Given the description of an element on the screen output the (x, y) to click on. 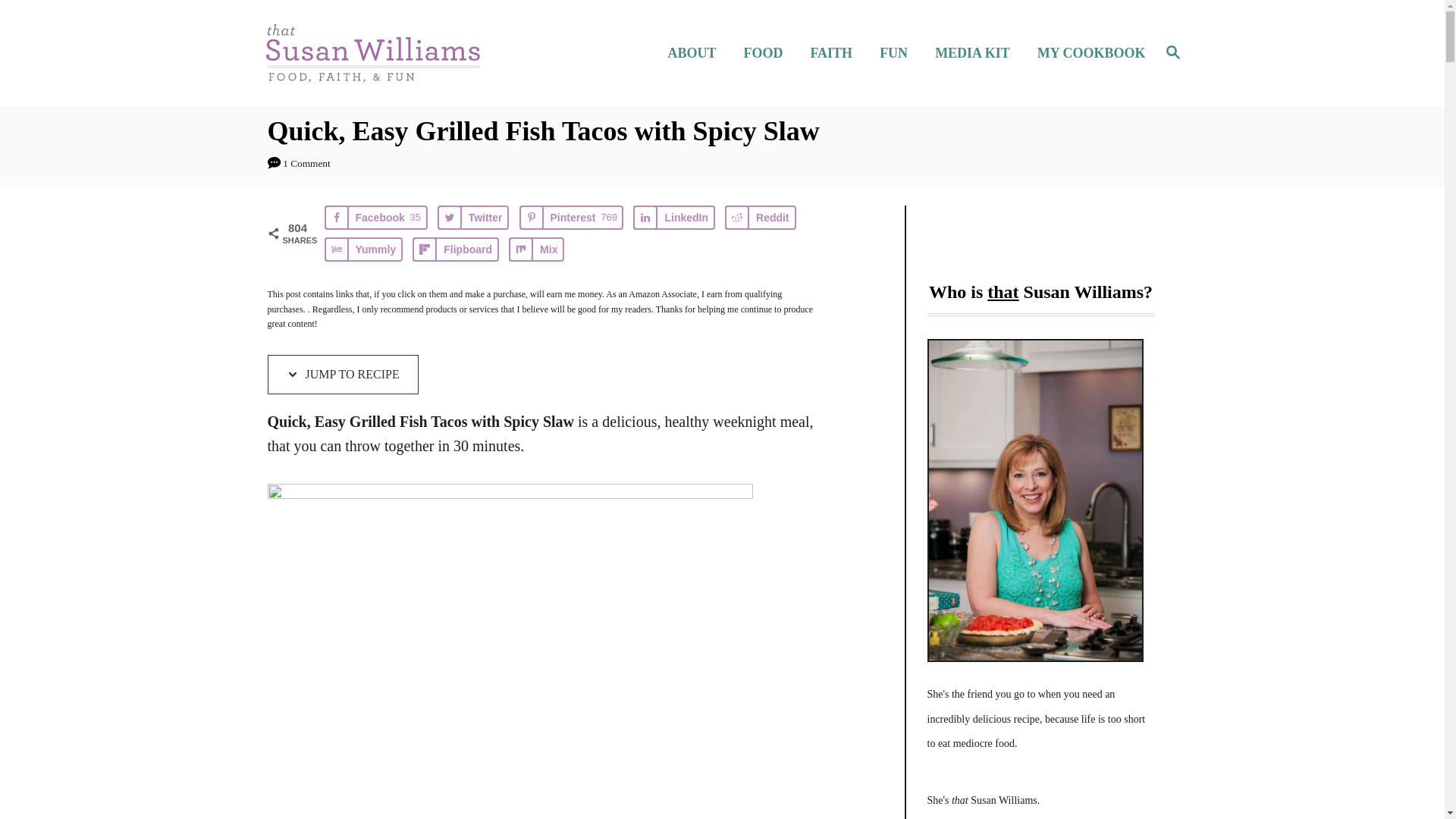
Save to Pinterest (1171, 53)
Share on Reddit (571, 217)
Twitter (760, 217)
FUN (473, 217)
Flipboard (898, 53)
MY COOKBOOK (455, 249)
Share on Flipboard (1086, 53)
LinkedIn (455, 249)
Magnifying Glass (673, 217)
